Given the description of an element on the screen output the (x, y) to click on. 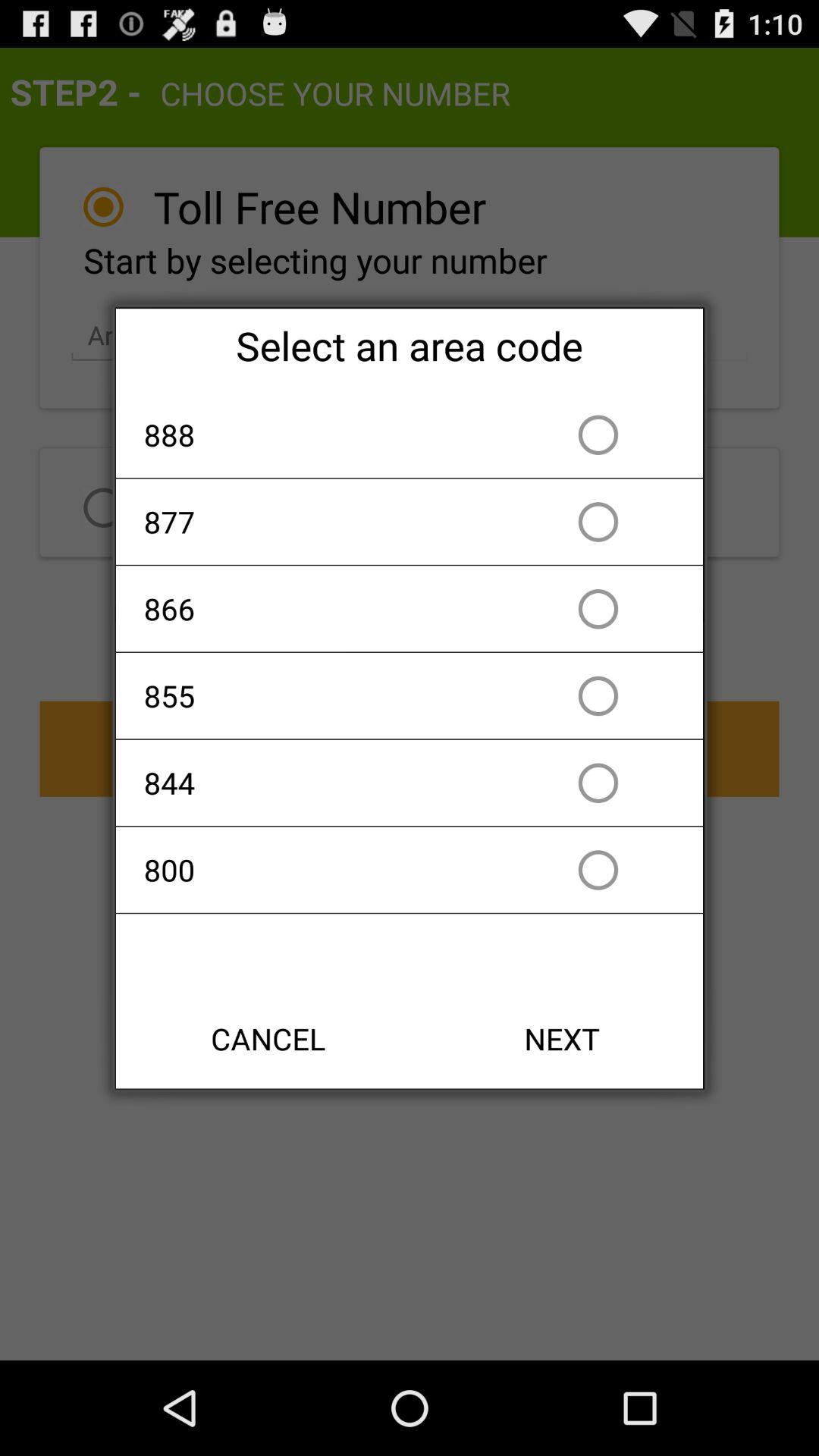
tap app above 877 (322, 434)
